Given the description of an element on the screen output the (x, y) to click on. 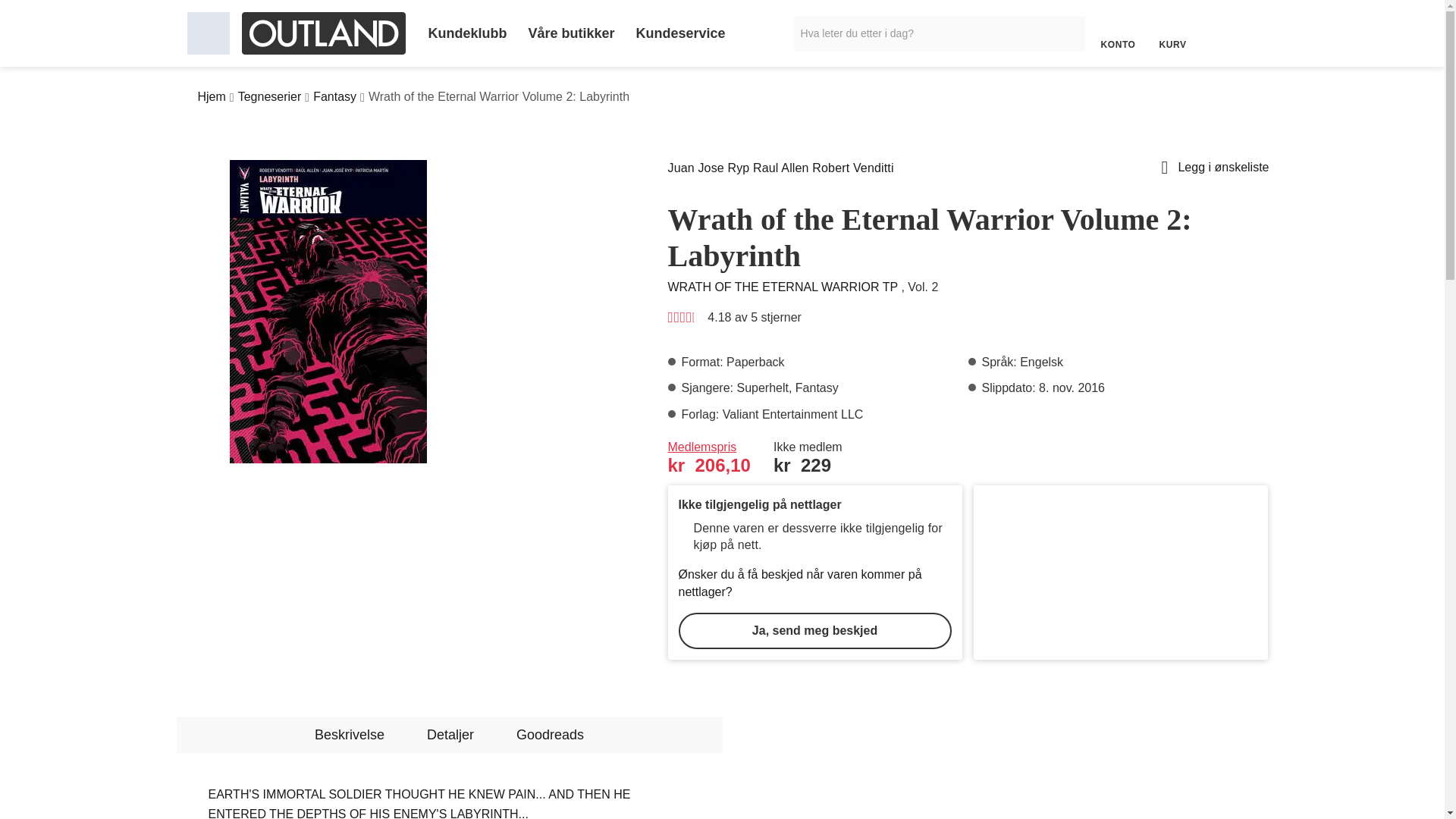
KURV (1172, 33)
Ja, send meg beskjed (814, 630)
Toggle Nav (207, 33)
KONTO (1117, 33)
Kundeklubb (466, 33)
Kundeservice (681, 33)
Logoen til Outland (322, 33)
Go to Home Page (210, 97)
